Given the description of an element on the screen output the (x, y) to click on. 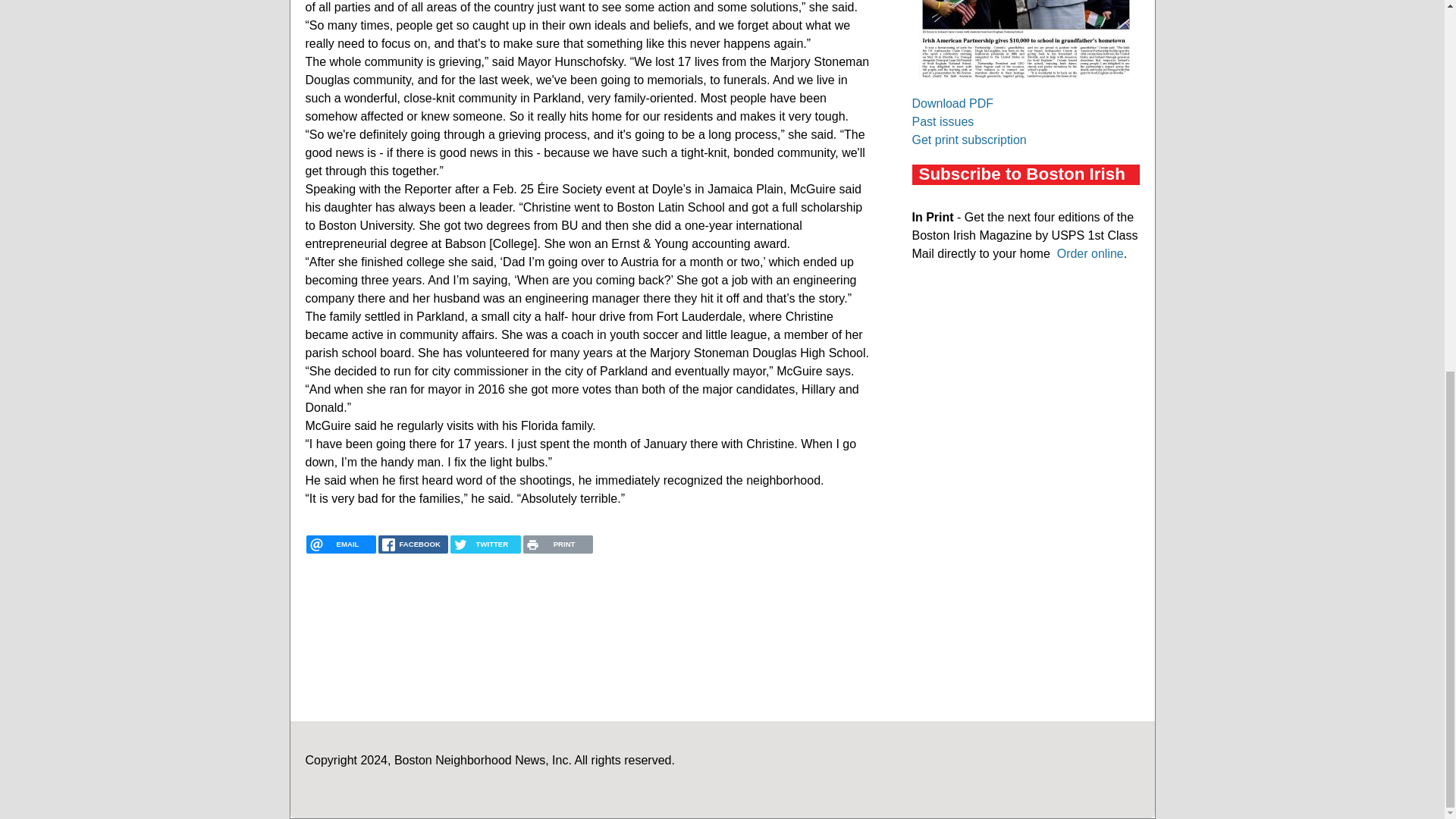
EMAIL (340, 544)
FACEBOOK (413, 544)
Past issues (942, 121)
PRINT (557, 544)
TWITTER (484, 544)
Download PDF (951, 103)
Get print subscription (968, 139)
Order online (1090, 253)
3rd party ad content (1024, 596)
3rd party ad content (1024, 391)
